Given the description of an element on the screen output the (x, y) to click on. 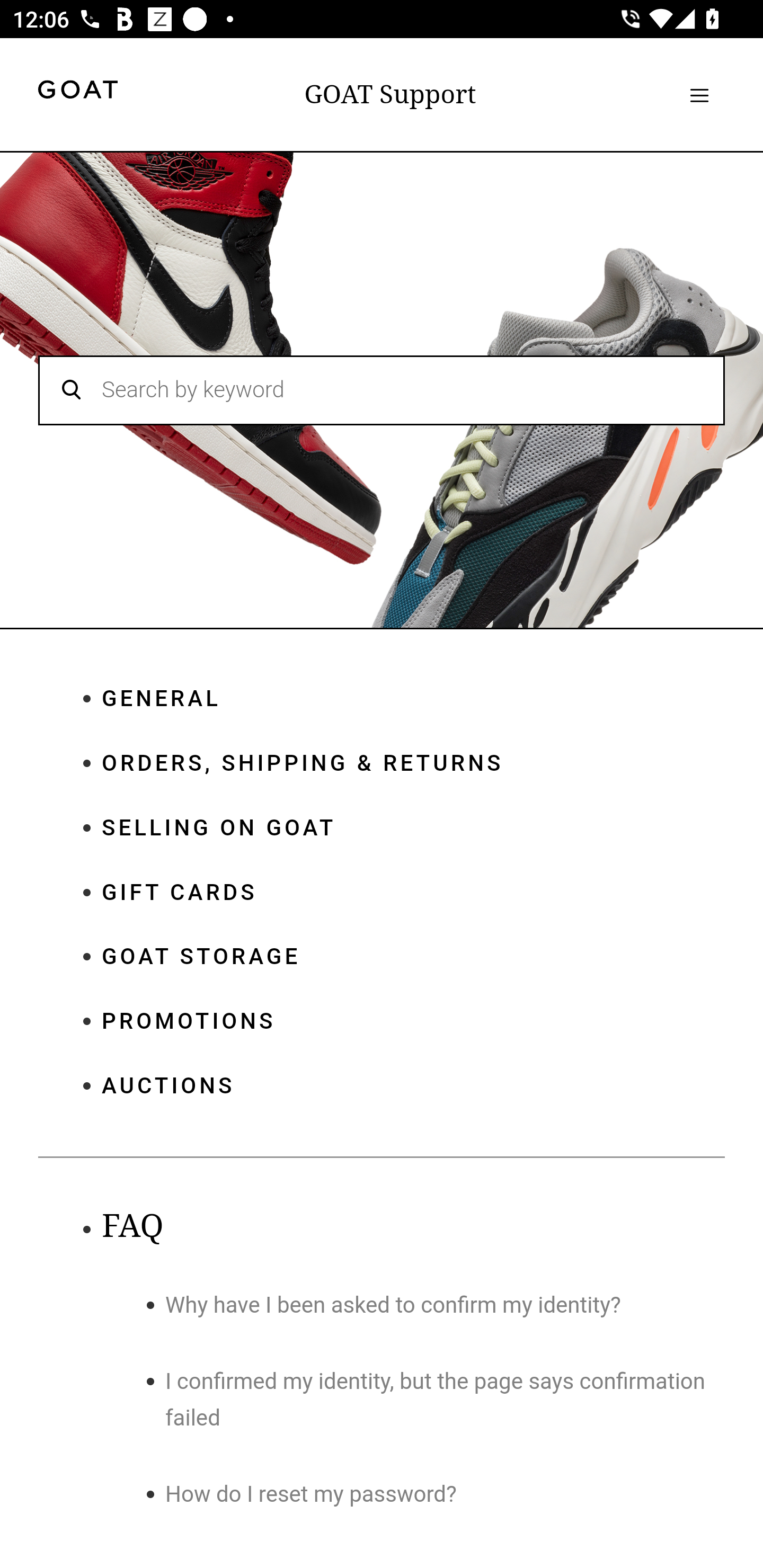
goat header logo (77, 92)
Toggle navigation menu (698, 94)
GOAT Support (389, 94)
GENERAL (412, 699)
ORDERS, SHIPPING & RETURNS (412, 763)
SELLING ON GOAT (412, 828)
GIFT CARDS (412, 891)
GOAT STORAGE (412, 956)
PROMOTIONS (412, 1022)
AUCTIONS (412, 1085)
FAQ (132, 1225)
Why have I been asked to confirm my identity? (393, 1305)
How do I reset my password? (311, 1494)
